Given the description of an element on the screen output the (x, y) to click on. 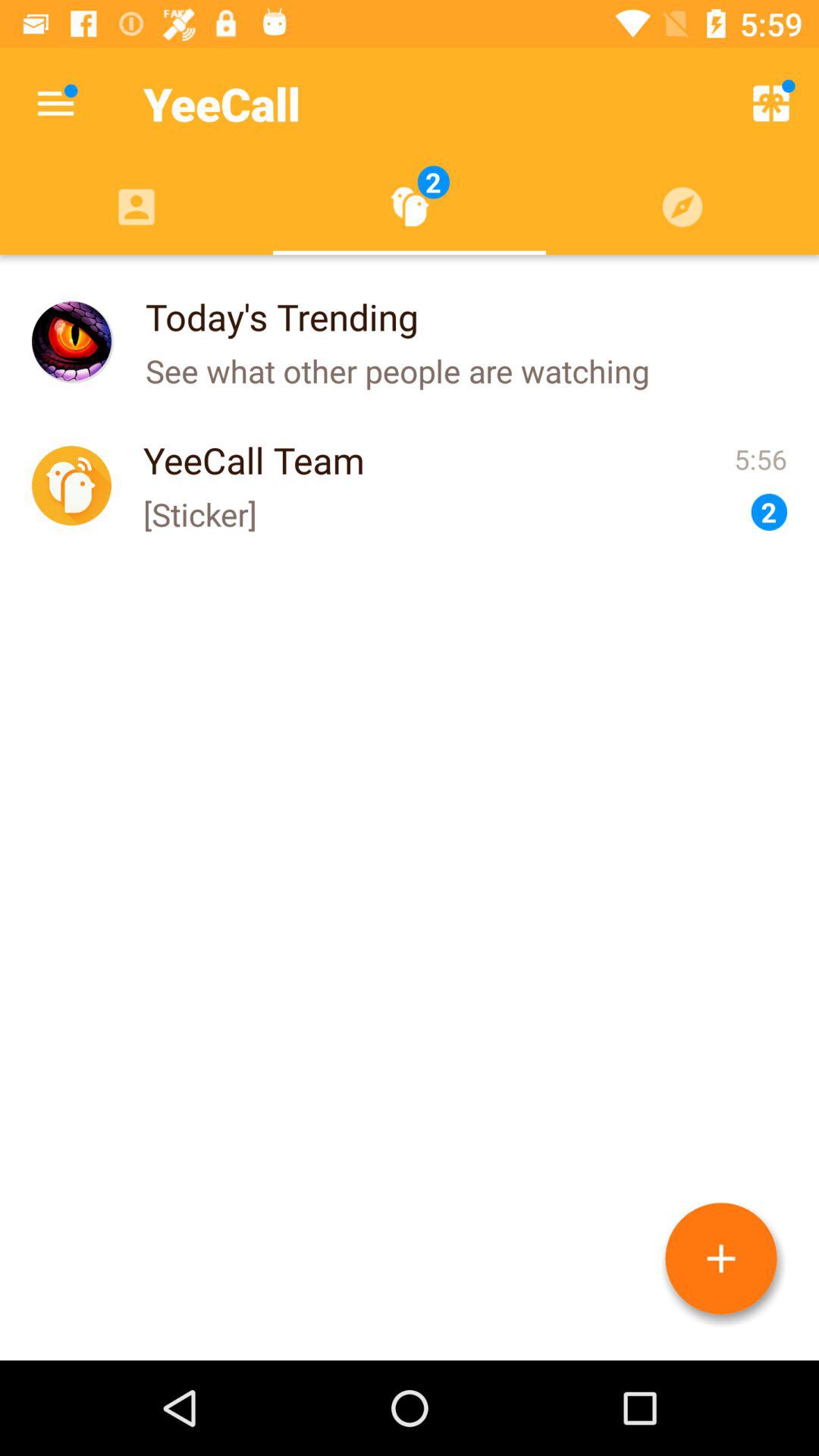
new call (721, 1258)
